Given the description of an element on the screen output the (x, y) to click on. 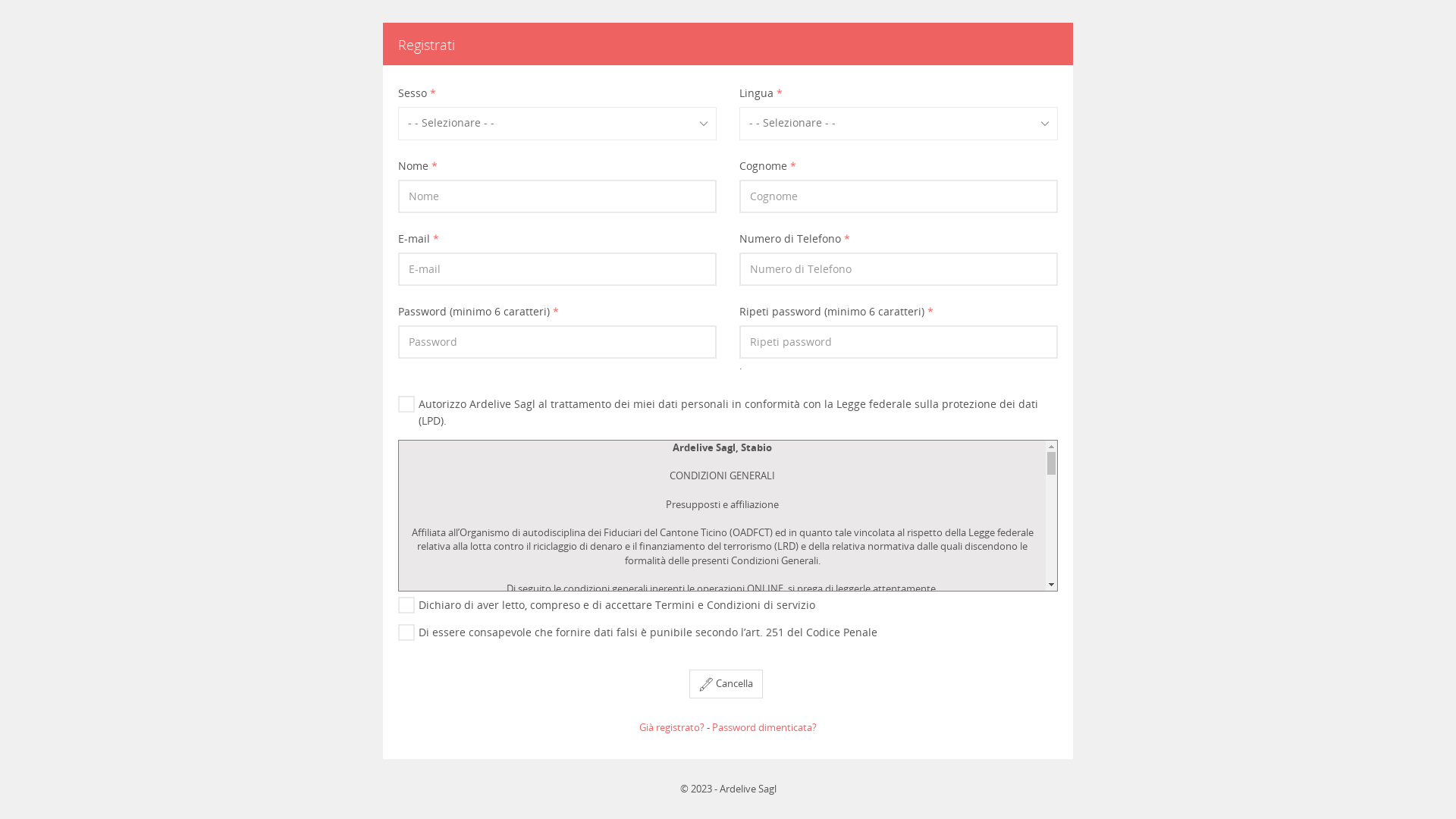
Password dimenticata? Element type: text (764, 727)
Cancella Element type: text (725, 683)
